Given the description of an element on the screen output the (x, y) to click on. 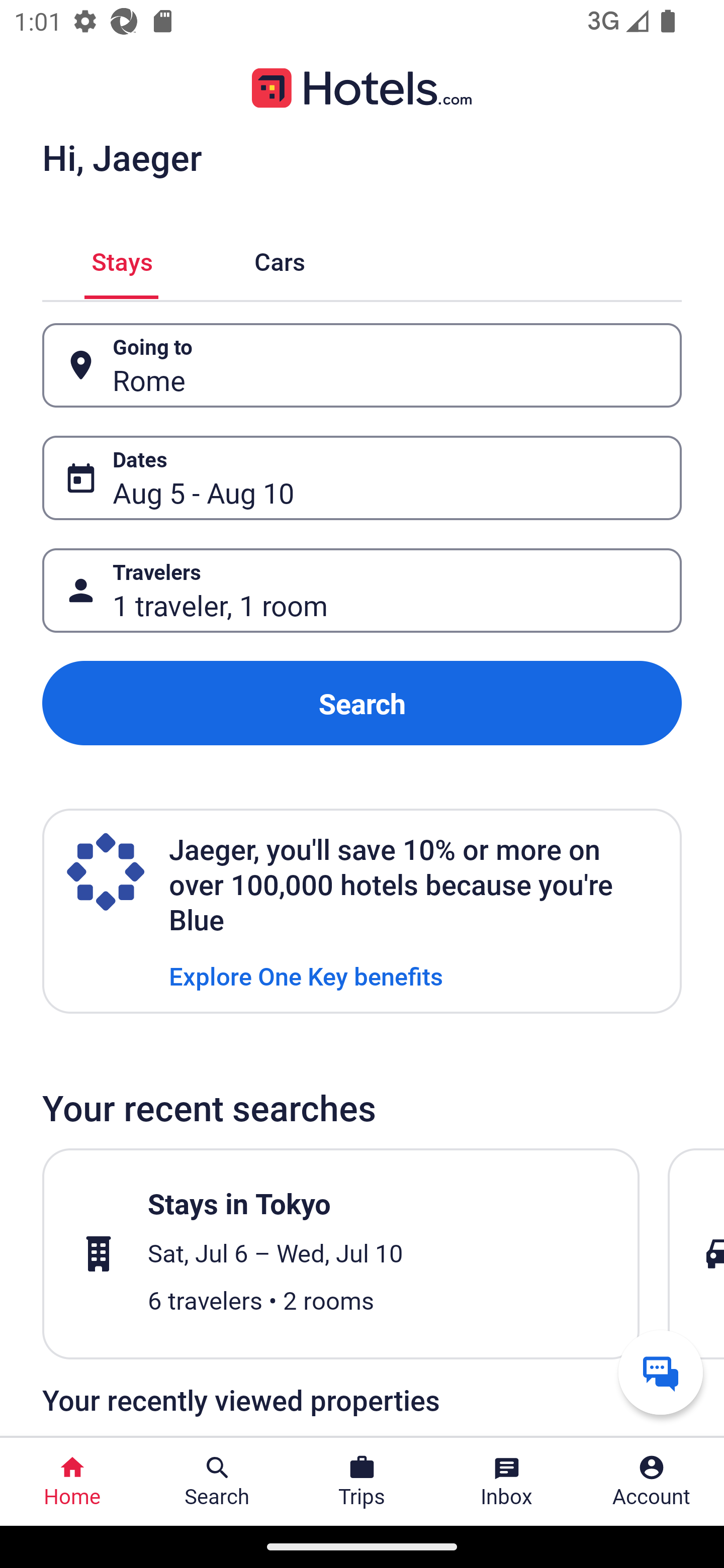
Hi, Jaeger (121, 156)
Cars (279, 259)
Going to Button Rome (361, 365)
Dates Button Aug 5 - Aug 10 (361, 477)
Travelers Button 1 traveler, 1 room (361, 590)
Search (361, 702)
Get help from a virtual agent (660, 1371)
Search Search Button (216, 1481)
Trips Trips Button (361, 1481)
Inbox Inbox Button (506, 1481)
Account Profile. Button (651, 1481)
